Given the description of an element on the screen output the (x, y) to click on. 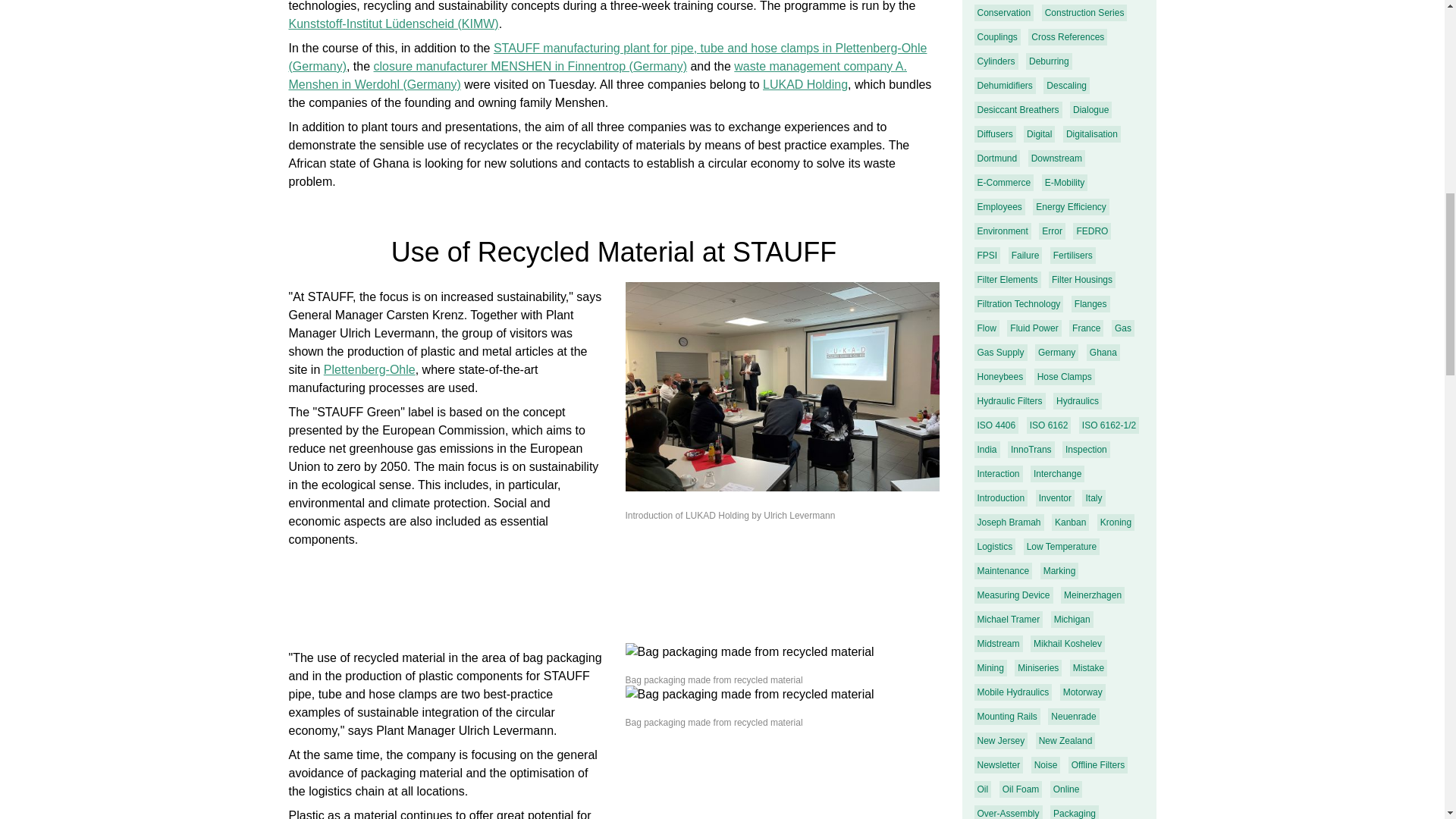
Plettenberg-Ohle (368, 369)
LUKAD Holding (804, 83)
